Given the description of an element on the screen output the (x, y) to click on. 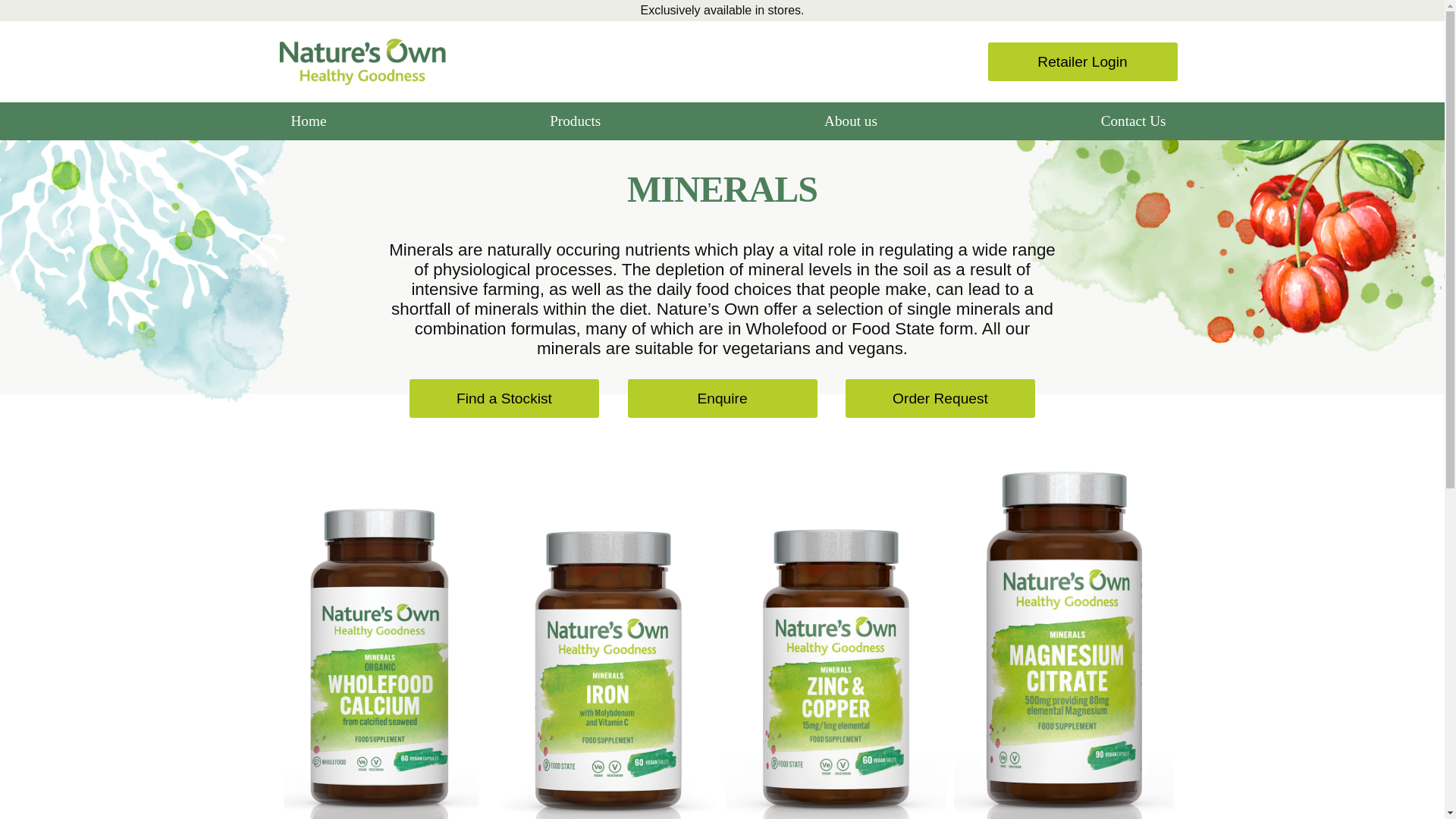
Order Request (940, 398)
Order Request (940, 398)
About us (850, 121)
Find a Stockist (503, 398)
Products (574, 121)
Retailer Login (1081, 61)
home (361, 61)
Contact Us (1133, 121)
Retailer Login (1081, 61)
Home (308, 121)
